Given the description of an element on the screen output the (x, y) to click on. 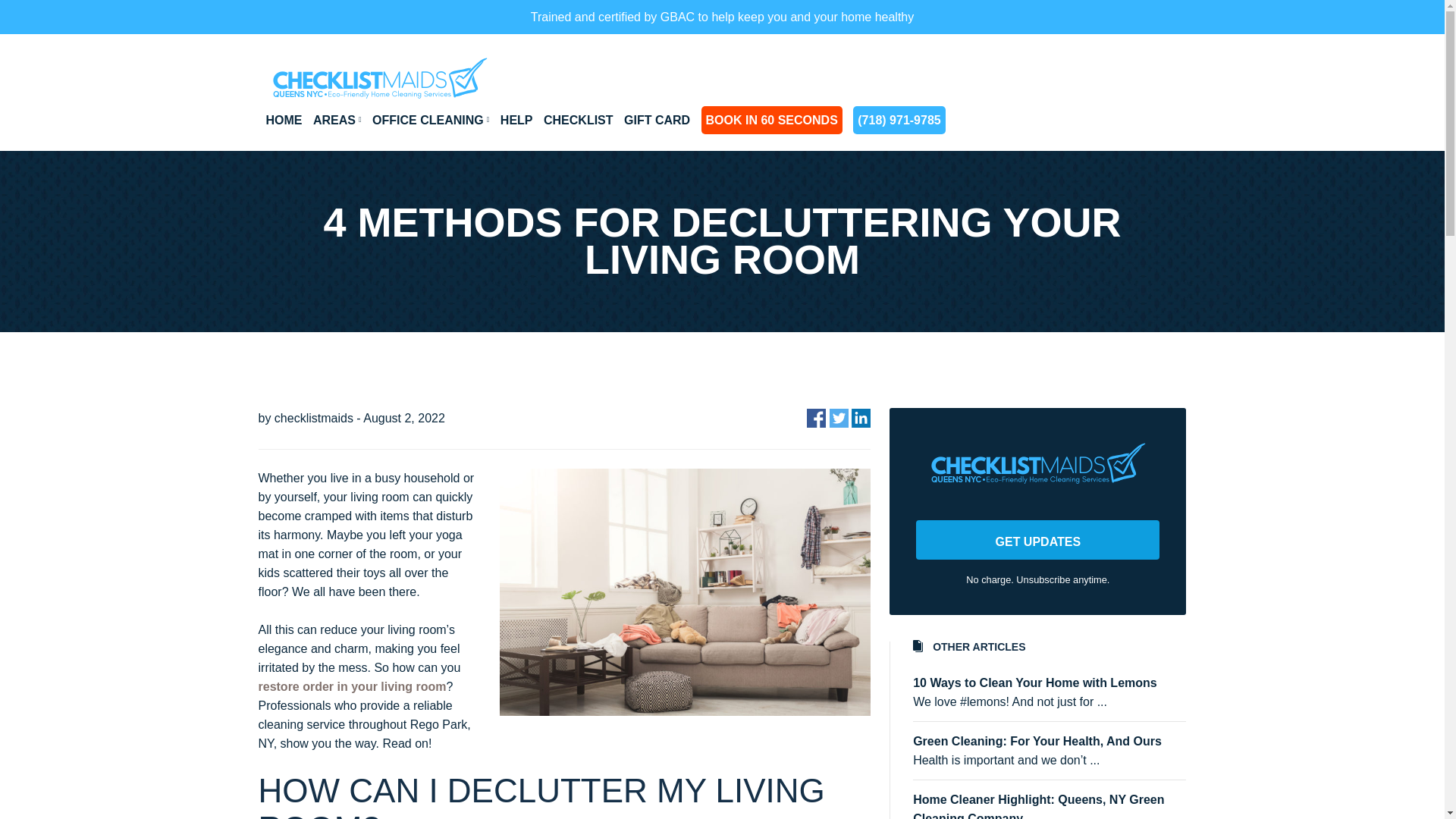
CHECKLIST (577, 119)
BOOK IN 60 SECONDS (772, 119)
HELP (516, 119)
AREAS (337, 119)
GIFT CARD (657, 119)
OFFICE CLEANING (430, 119)
HOME (282, 119)
GET UPDATES (1036, 539)
